Given the description of an element on the screen output the (x, y) to click on. 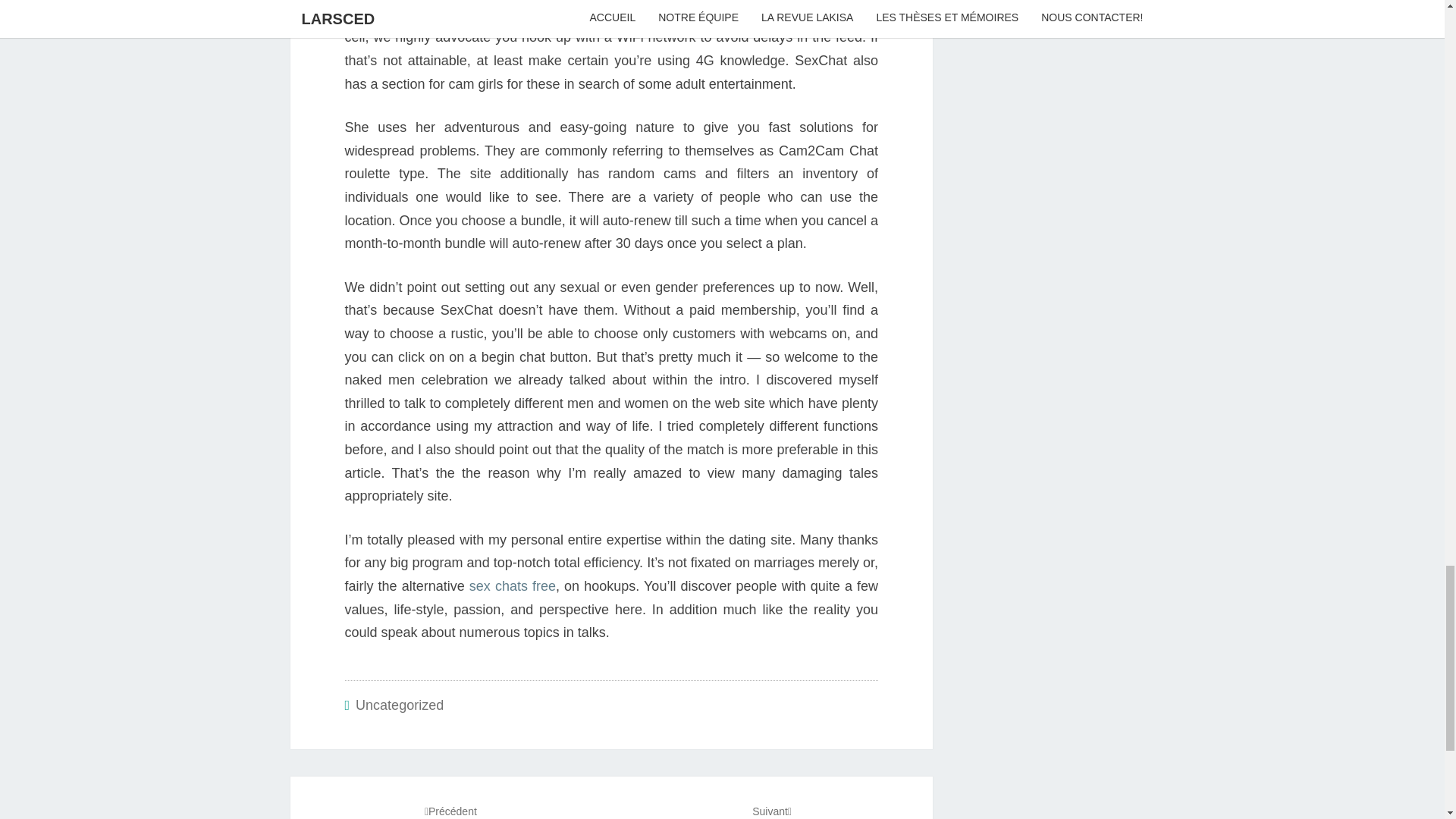
Uncategorized (771, 811)
sex chats free (399, 704)
